Given the description of an element on the screen output the (x, y) to click on. 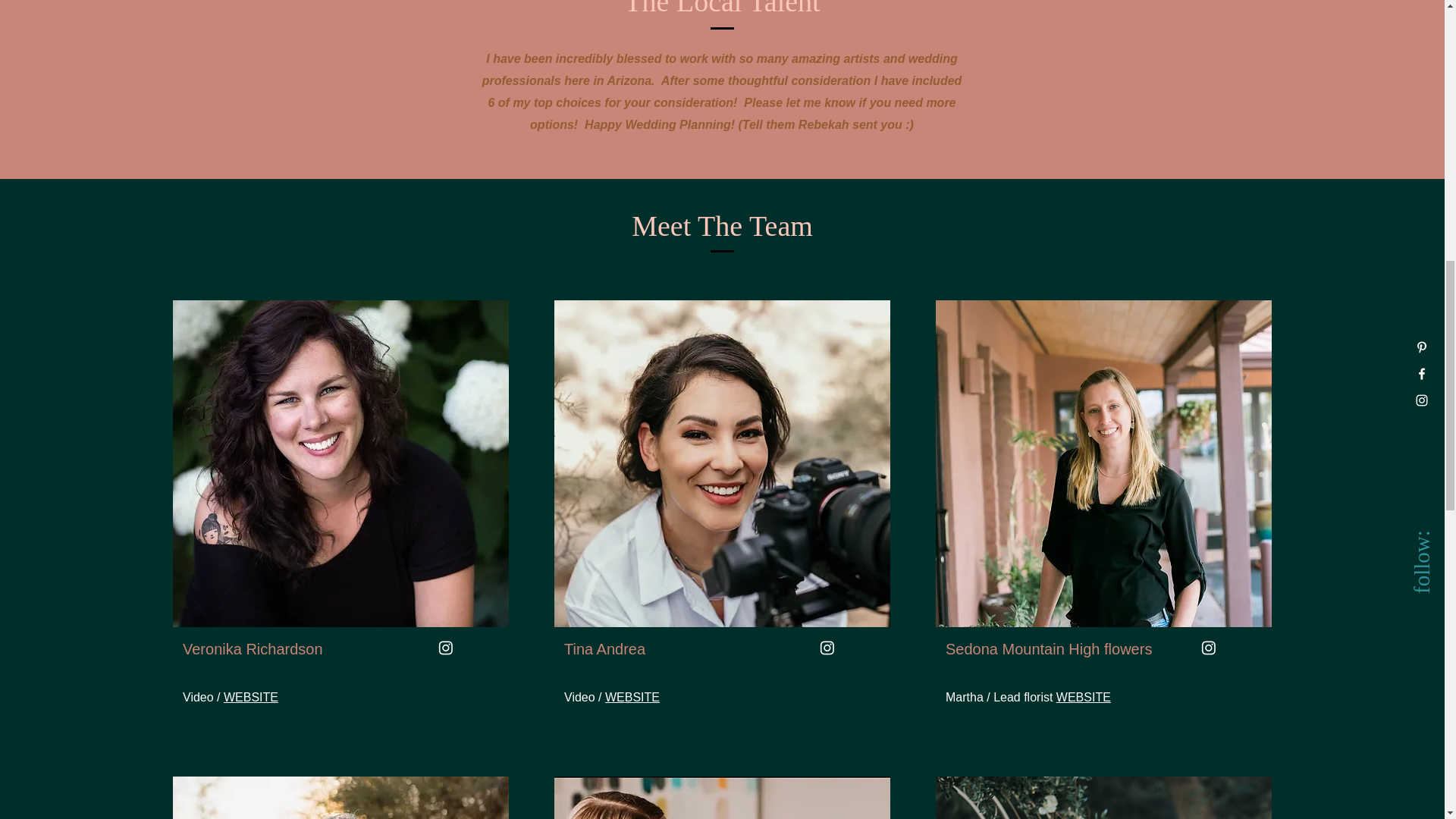
WEBSITE (251, 697)
WEBSITE (1083, 697)
WEBSITE (632, 697)
